Given the description of an element on the screen output the (x, y) to click on. 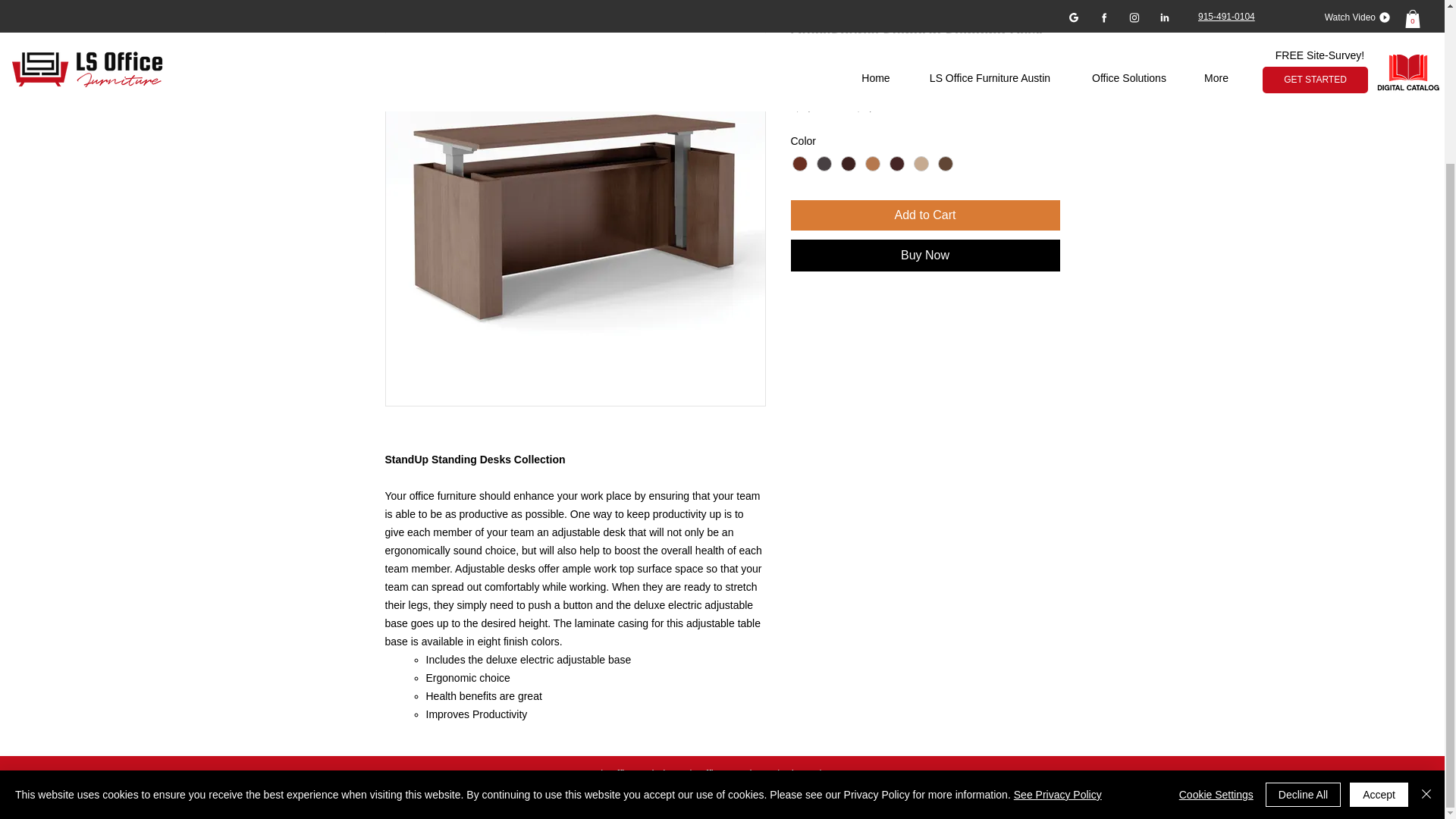
Contact Us (853, 774)
Terms of Use (971, 798)
El Paso (760, 798)
Home (578, 774)
Add to Cart (924, 214)
Buy Now (924, 255)
915-491-0104 (815, 798)
Office Furniture (733, 774)
Privacy Policy (893, 798)
See Privacy Policy (1057, 601)
